Given the description of an element on the screen output the (x, y) to click on. 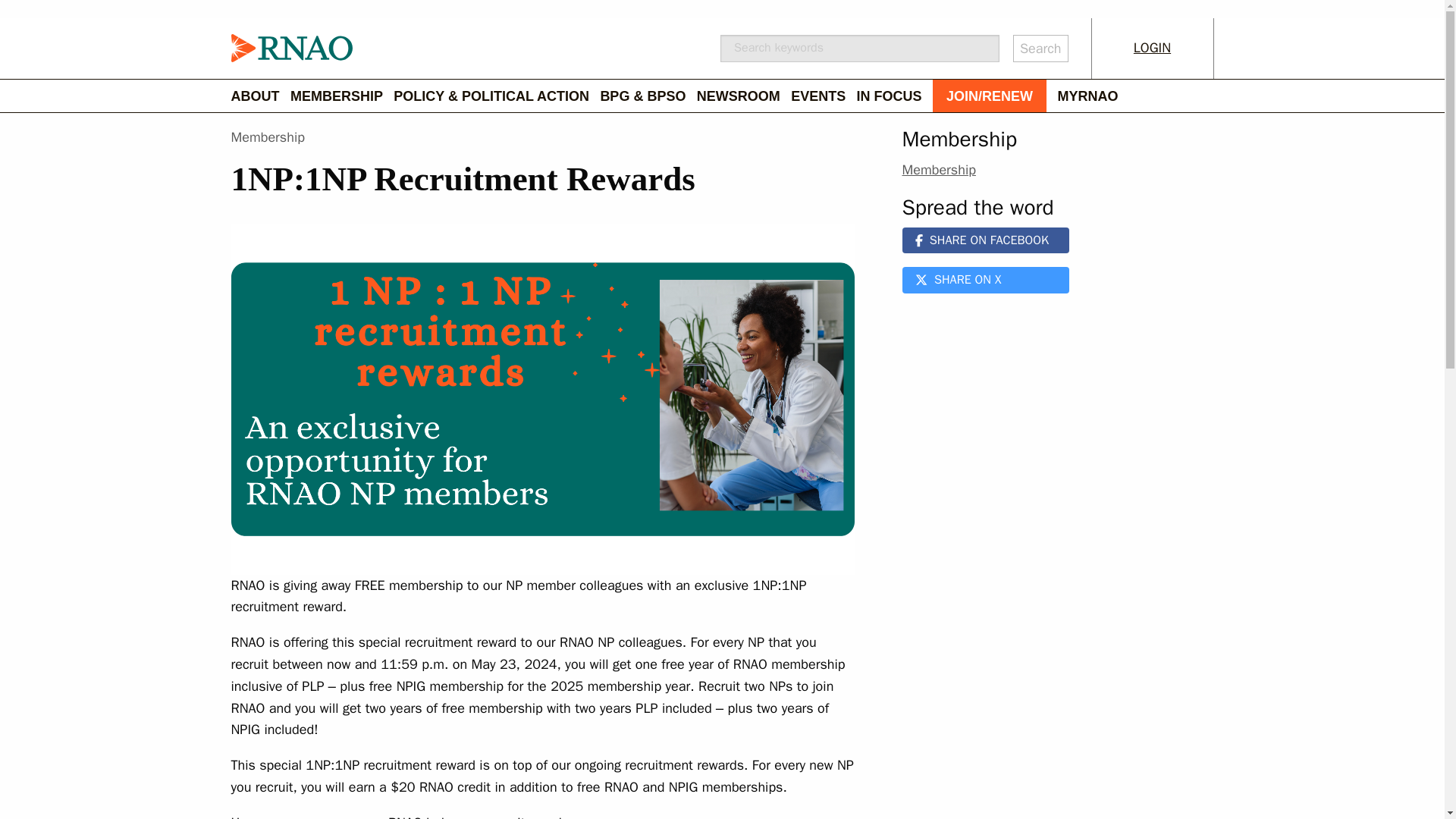
ABOUT (259, 95)
Search (1040, 48)
RNAO's BPG and BPSO programs (647, 95)
Membership information (341, 95)
MEMBERSHIP (341, 95)
LOGIN (1152, 48)
About us (259, 95)
